Given the description of an element on the screen output the (x, y) to click on. 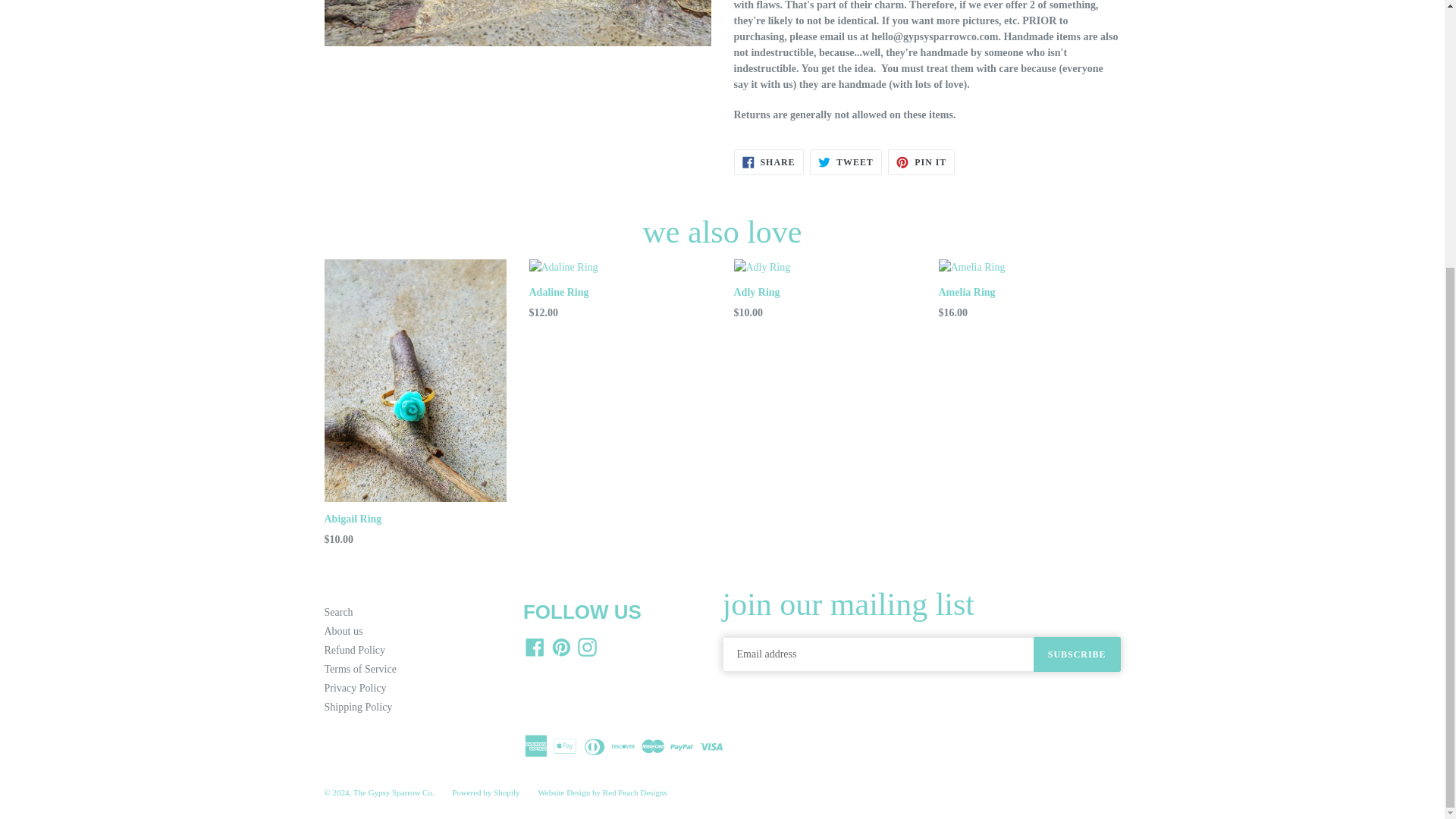
The Gypsy Sparrow Co. on Facebook (534, 647)
Share on Facebook (768, 162)
Tweet on Twitter (845, 162)
The Gypsy Sparrow Co. on Pinterest (560, 647)
Pin on Pinterest (921, 162)
The Gypsy Sparrow Co. on Instagram (586, 647)
